Given the description of an element on the screen output the (x, y) to click on. 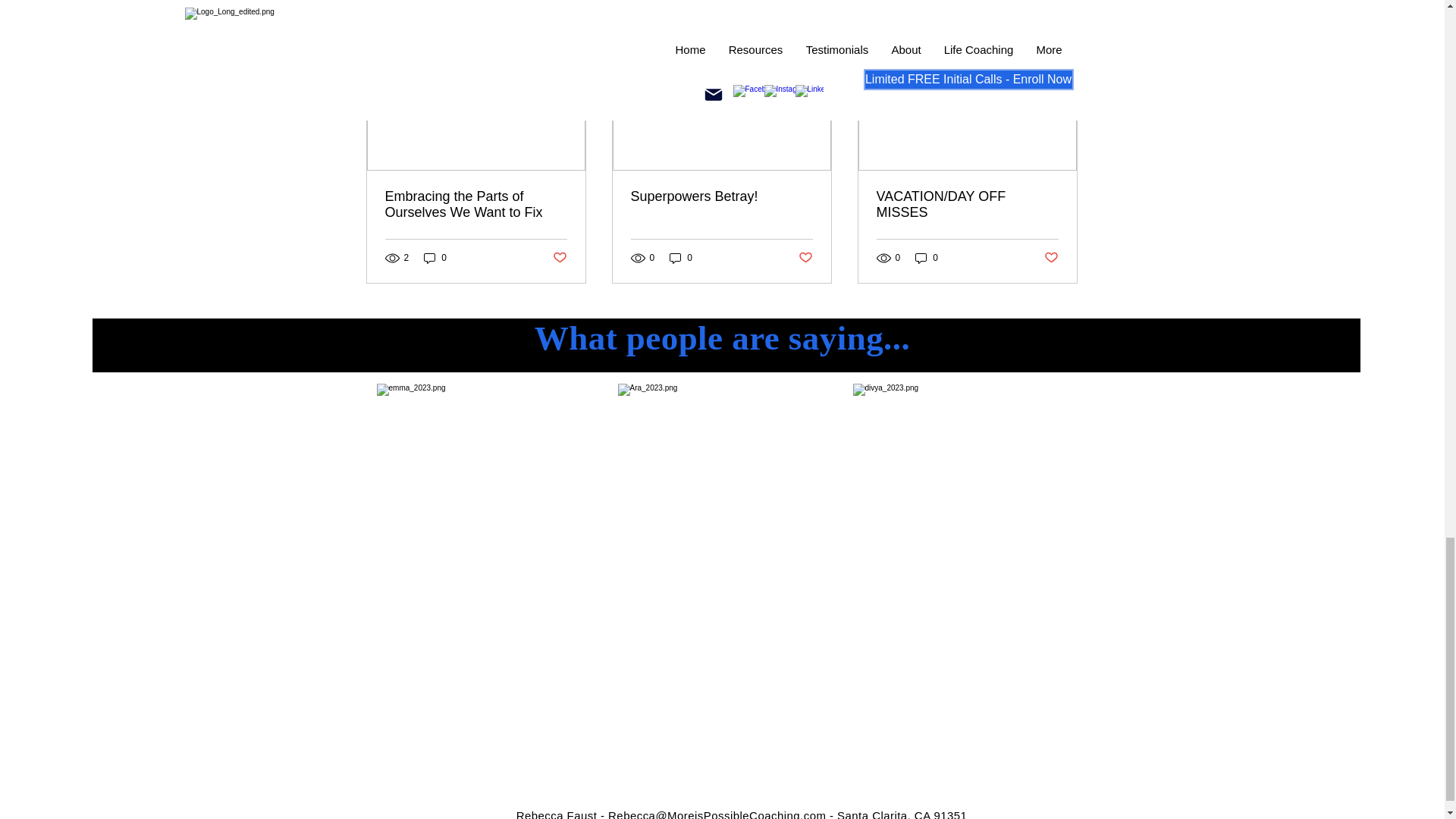
See All (1061, 20)
Embracing the Parts of Ourselves We Want to Fix (476, 204)
